Given the description of an element on the screen output the (x, y) to click on. 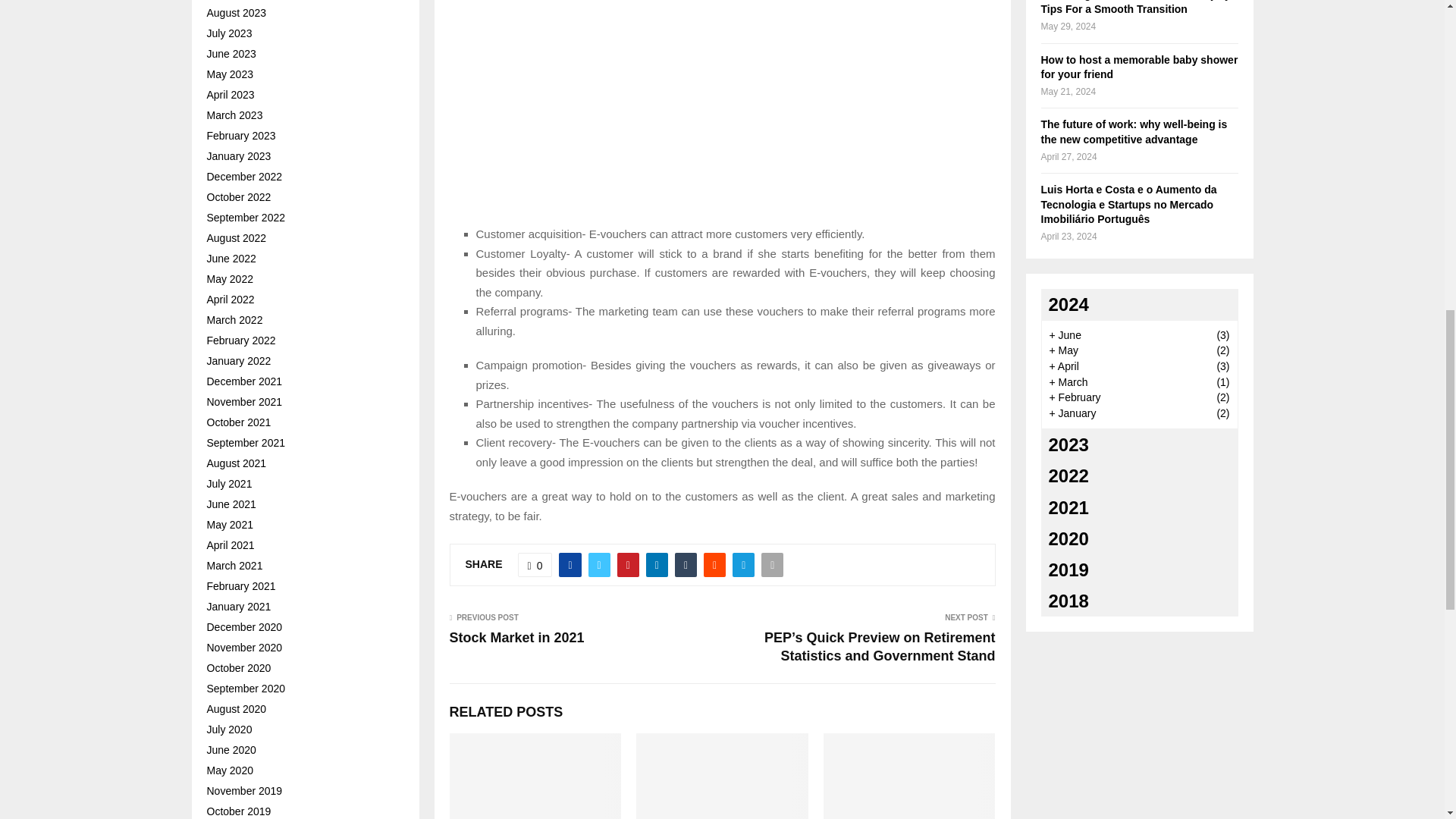
Like (535, 564)
0 (535, 564)
